Given the description of an element on the screen output the (x, y) to click on. 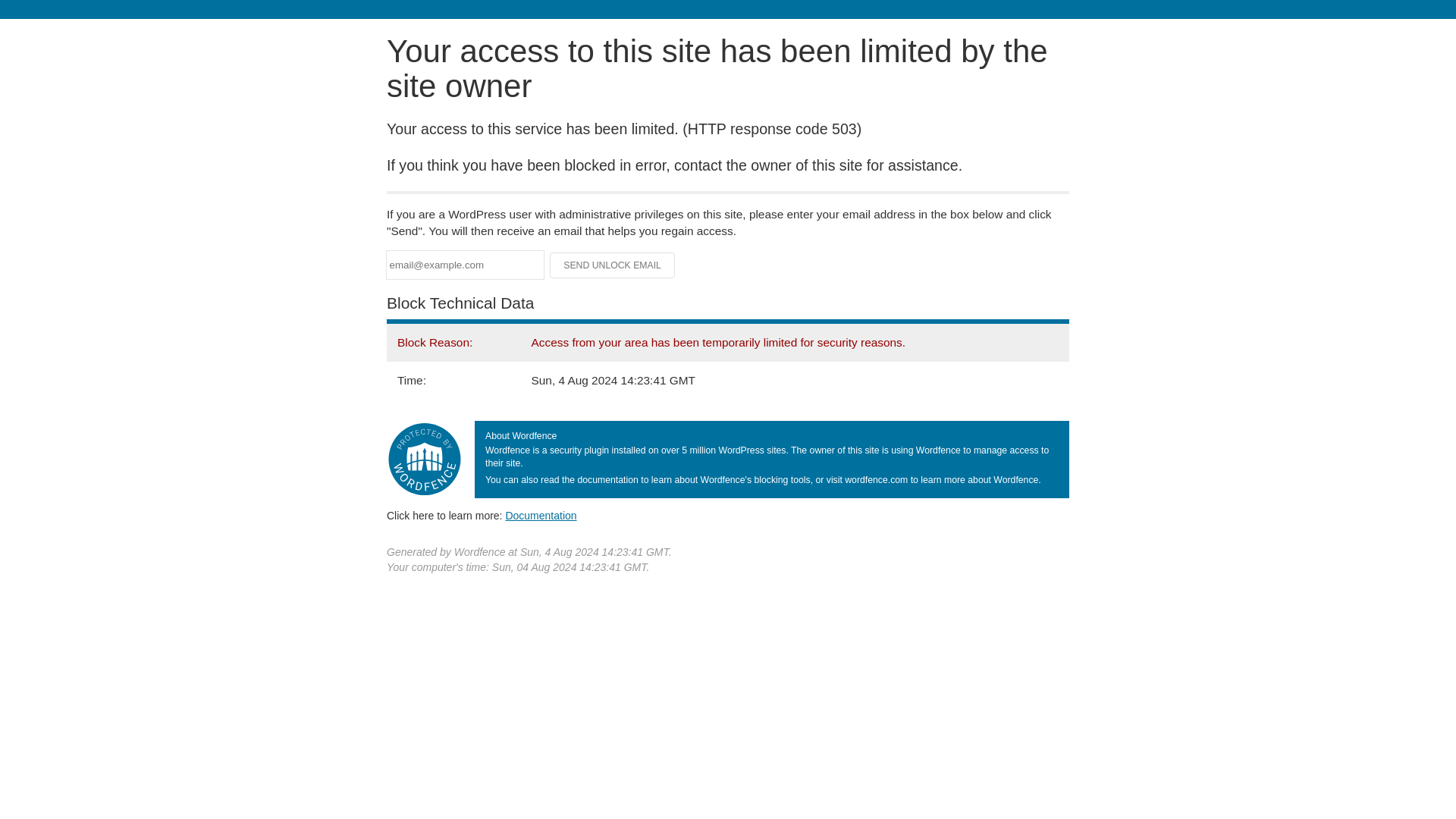
Send Unlock Email (612, 265)
Send Unlock Email (612, 265)
Documentation (540, 515)
